Given the description of an element on the screen output the (x, y) to click on. 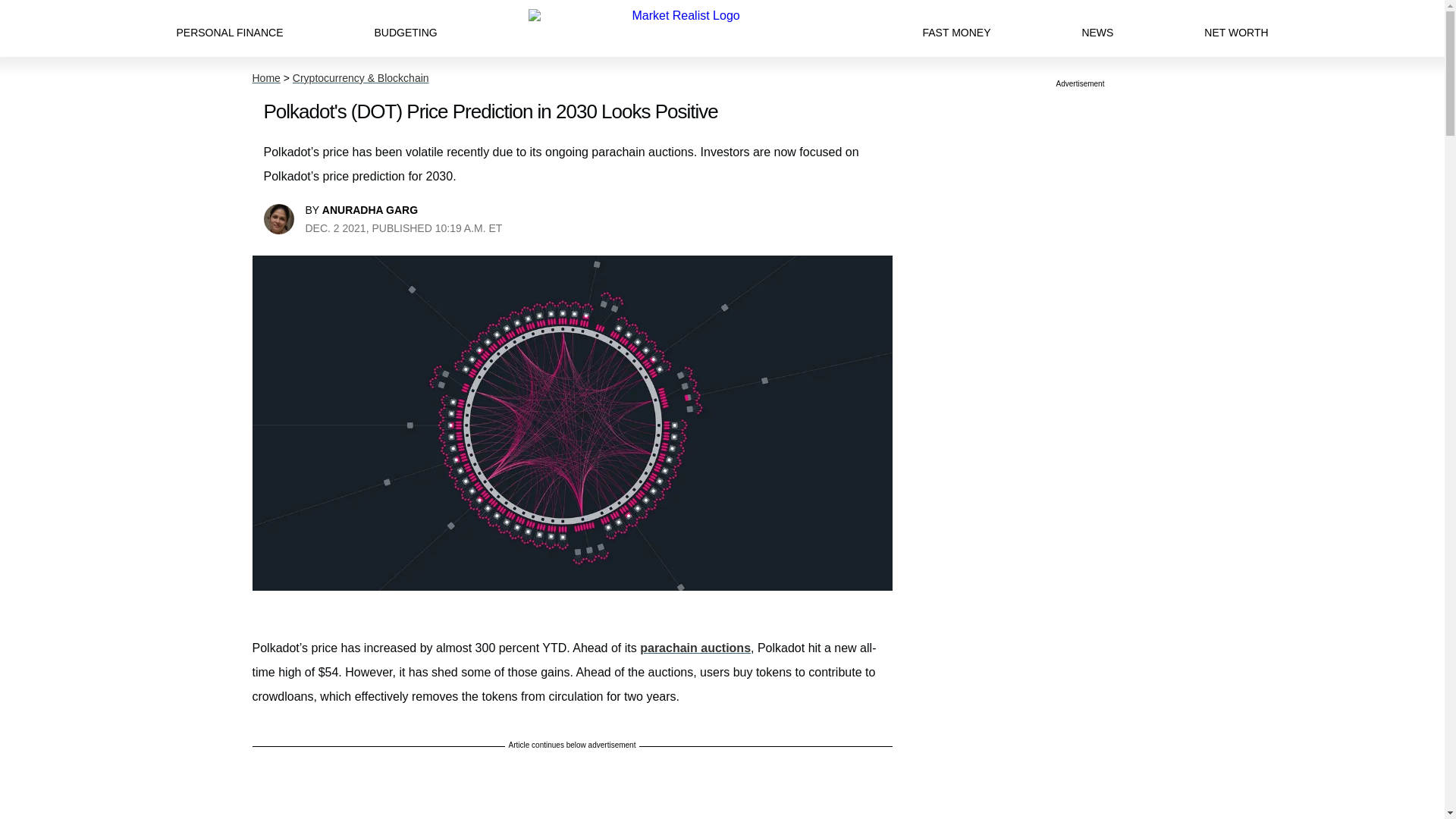
NET WORTH (1236, 27)
BUDGETING (405, 27)
FAST MONEY (955, 27)
Home (265, 78)
PERSONAL FINANCE (229, 27)
parachain auctions (695, 647)
ANURADHA GARG (369, 209)
NEWS (1097, 27)
